Given the description of an element on the screen output the (x, y) to click on. 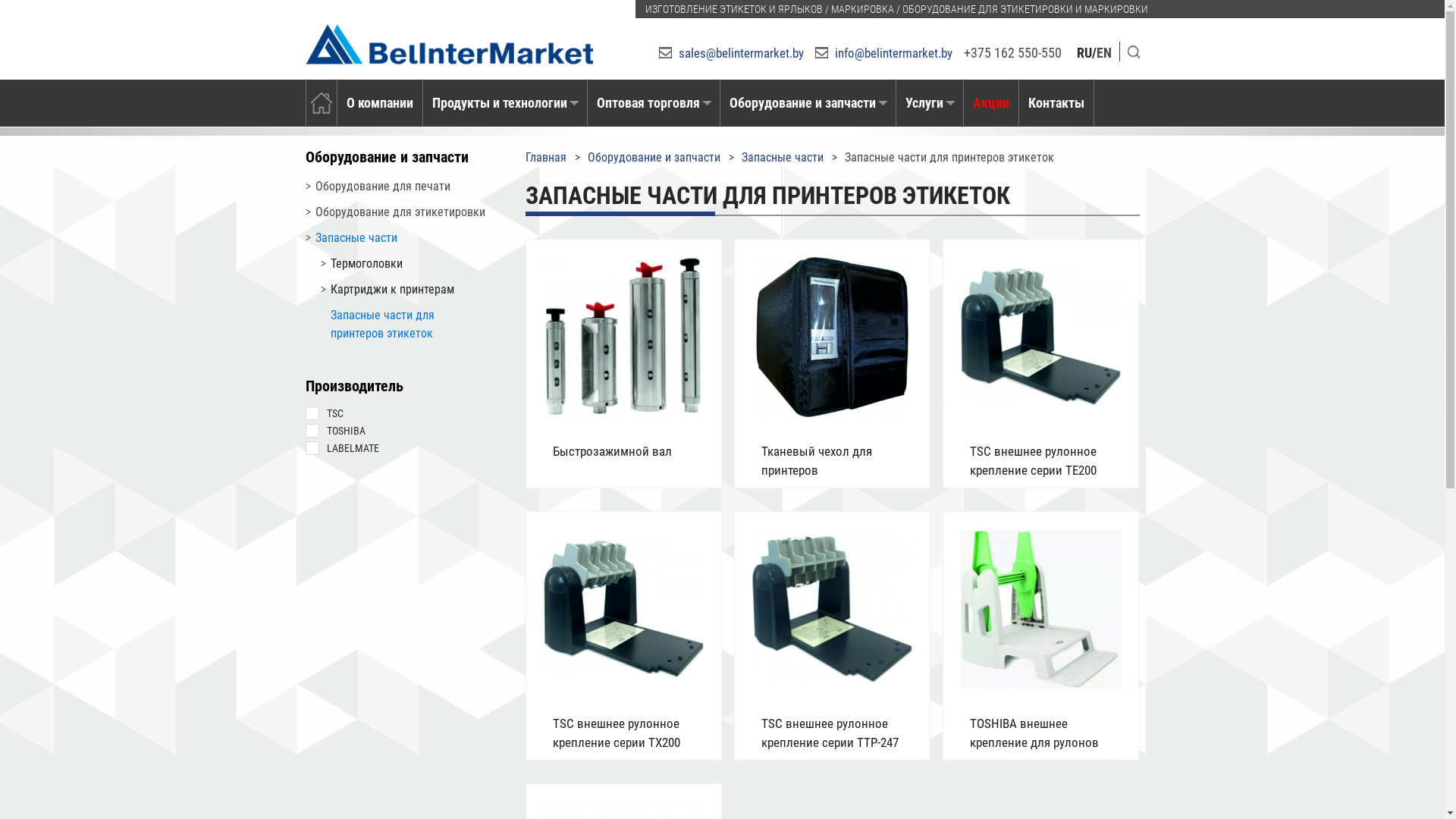
info@belintermarket.by Element type: text (882, 52)
EN Element type: text (1103, 52)
+375 162 550-550 Element type: text (1011, 52)
sales@belintermarket.by Element type: text (730, 52)
